Given the description of an element on the screen output the (x, y) to click on. 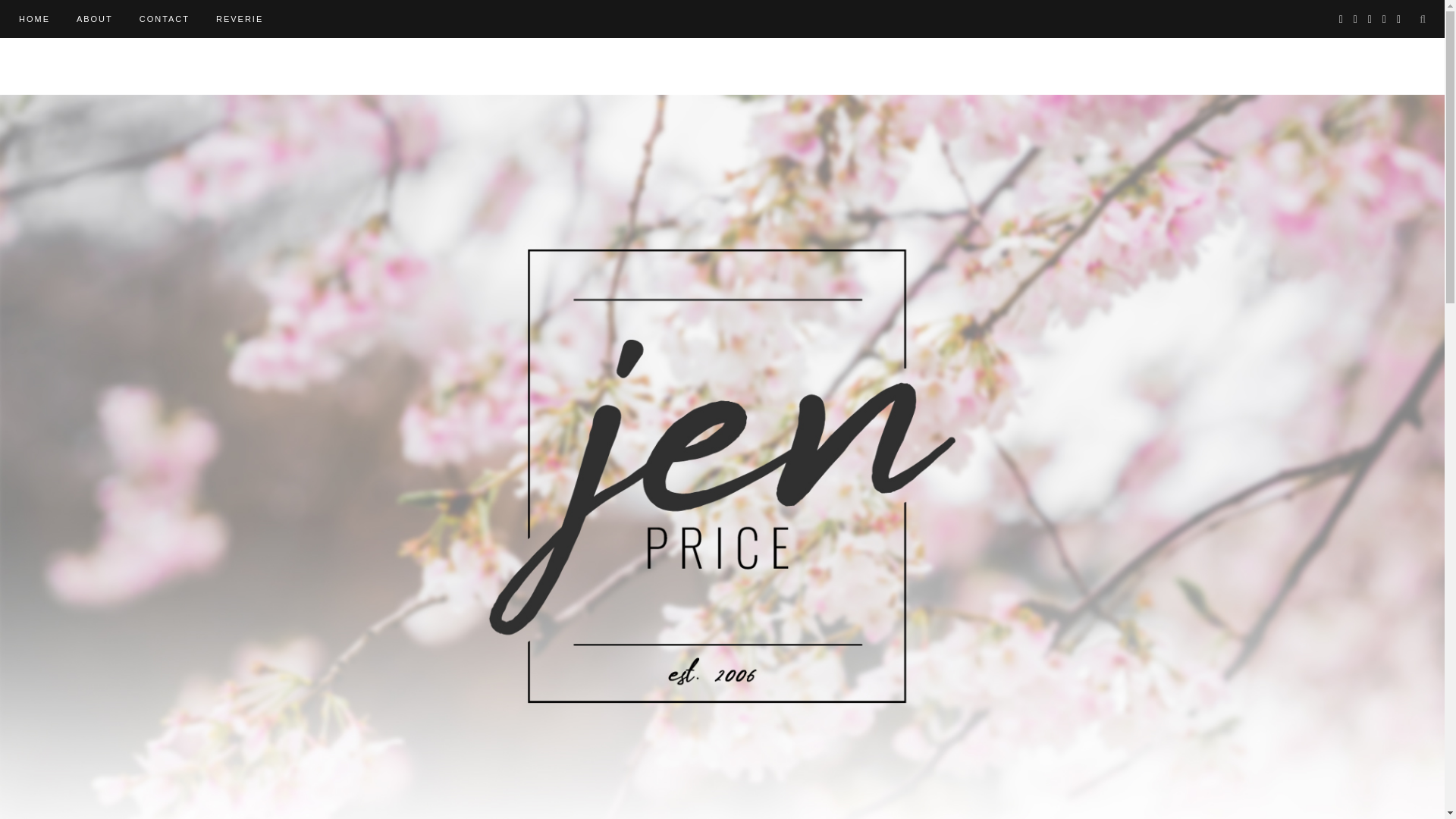
CONTACT (164, 18)
ABOUT (95, 18)
REVERIE (239, 18)
